Given the description of an element on the screen output the (x, y) to click on. 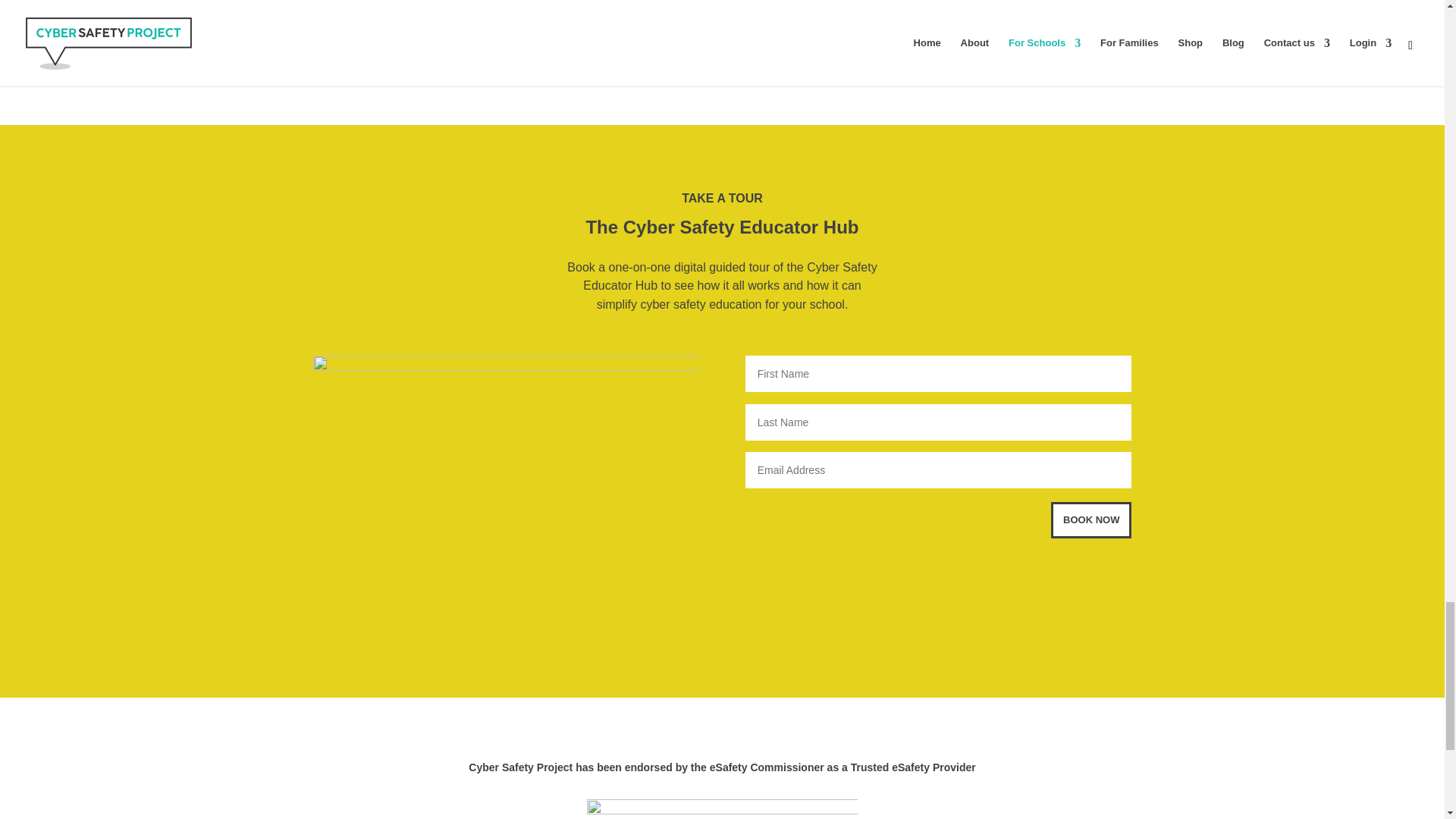
subscription-icon-06 (592, 31)
